Given the description of an element on the screen output the (x, y) to click on. 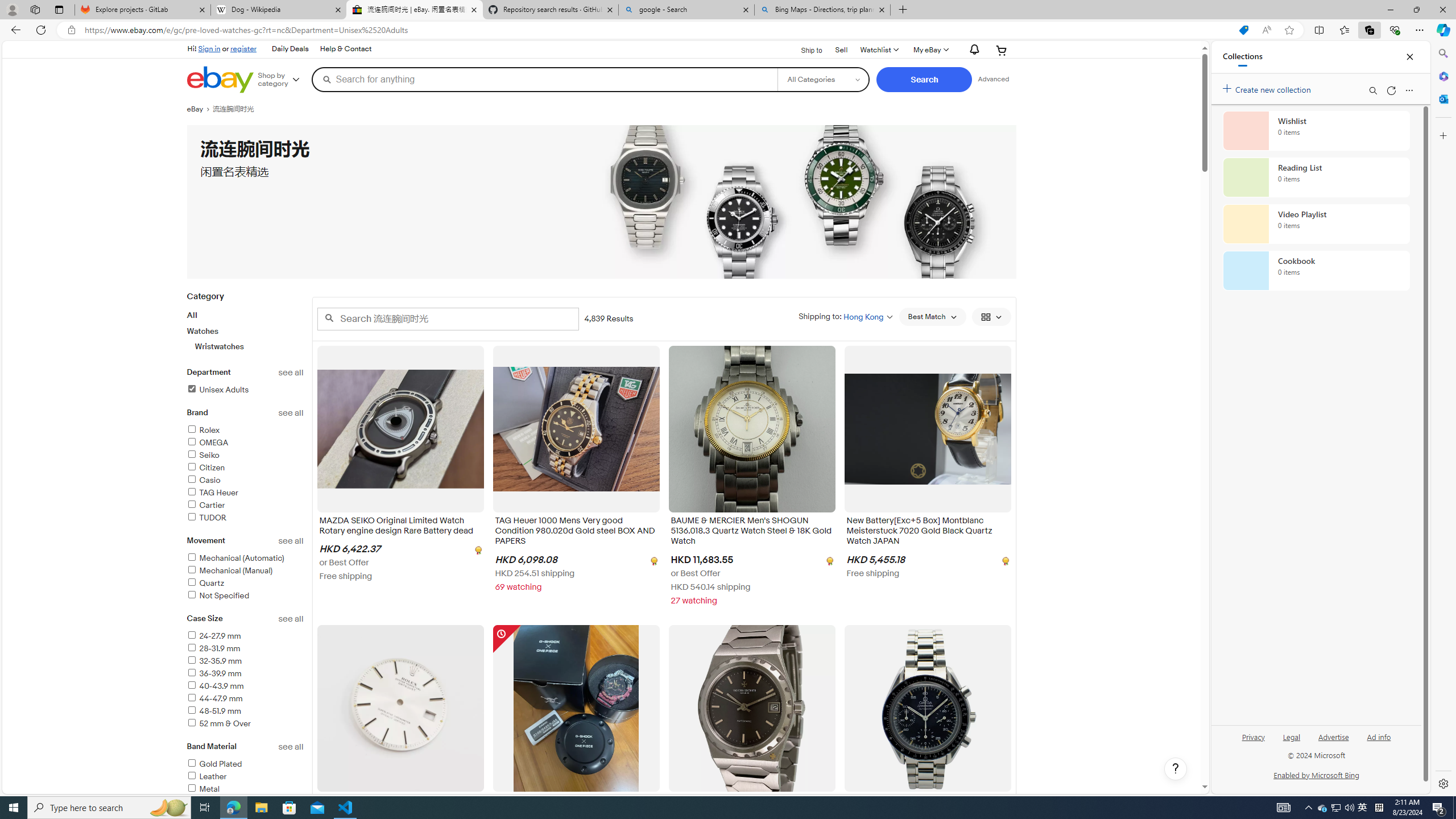
Mechanical (Manual) (245, 570)
44-47.9 mm (214, 698)
WatchesWristwatches (245, 338)
WatchlistExpand Watch List (878, 49)
See all band material refinements (291, 747)
Advanced Search (993, 78)
eBay Home (219, 79)
